Given the description of an element on the screen output the (x, y) to click on. 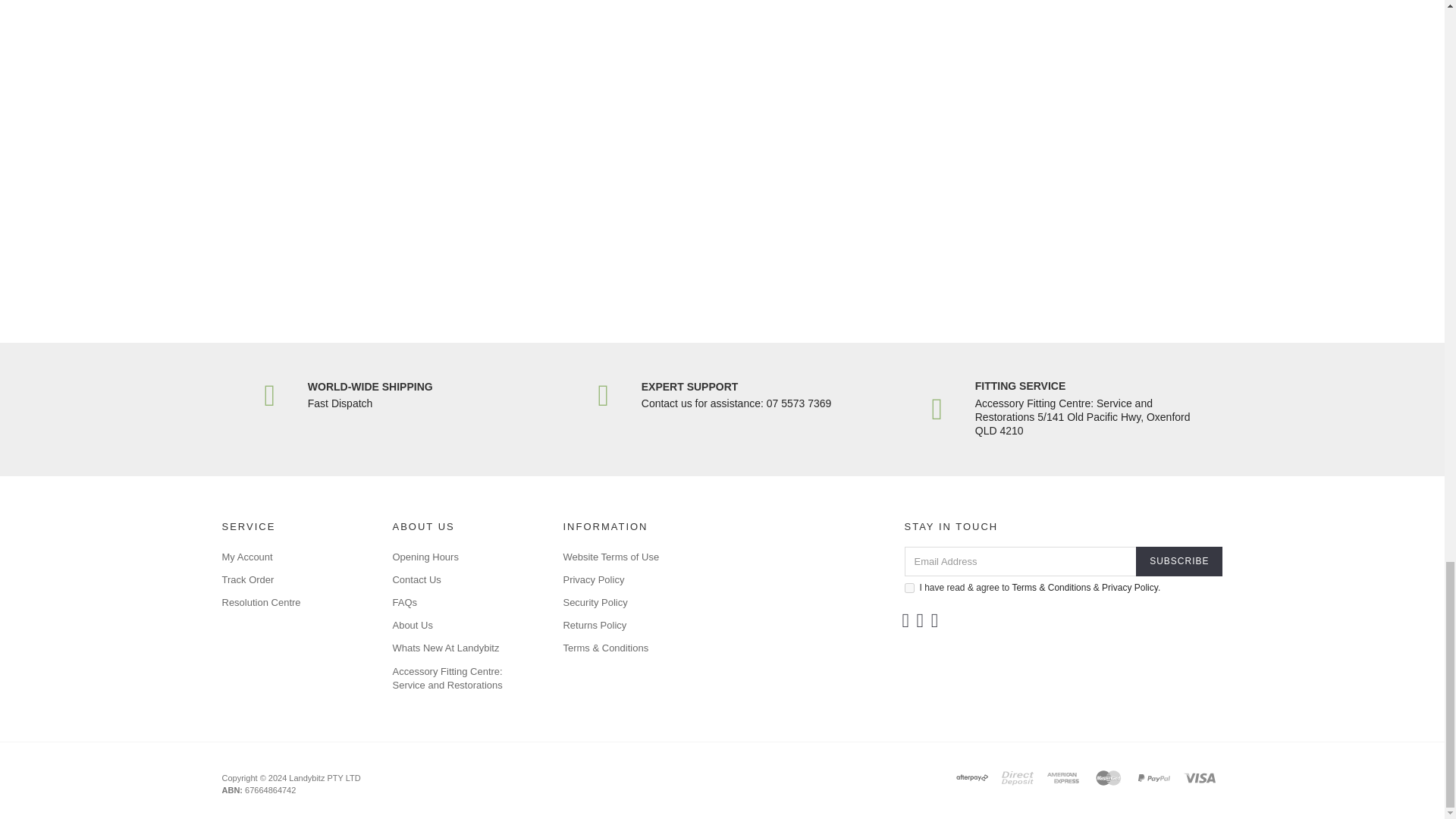
Subscribe (1179, 561)
y (909, 587)
